Given the description of an element on the screen output the (x, y) to click on. 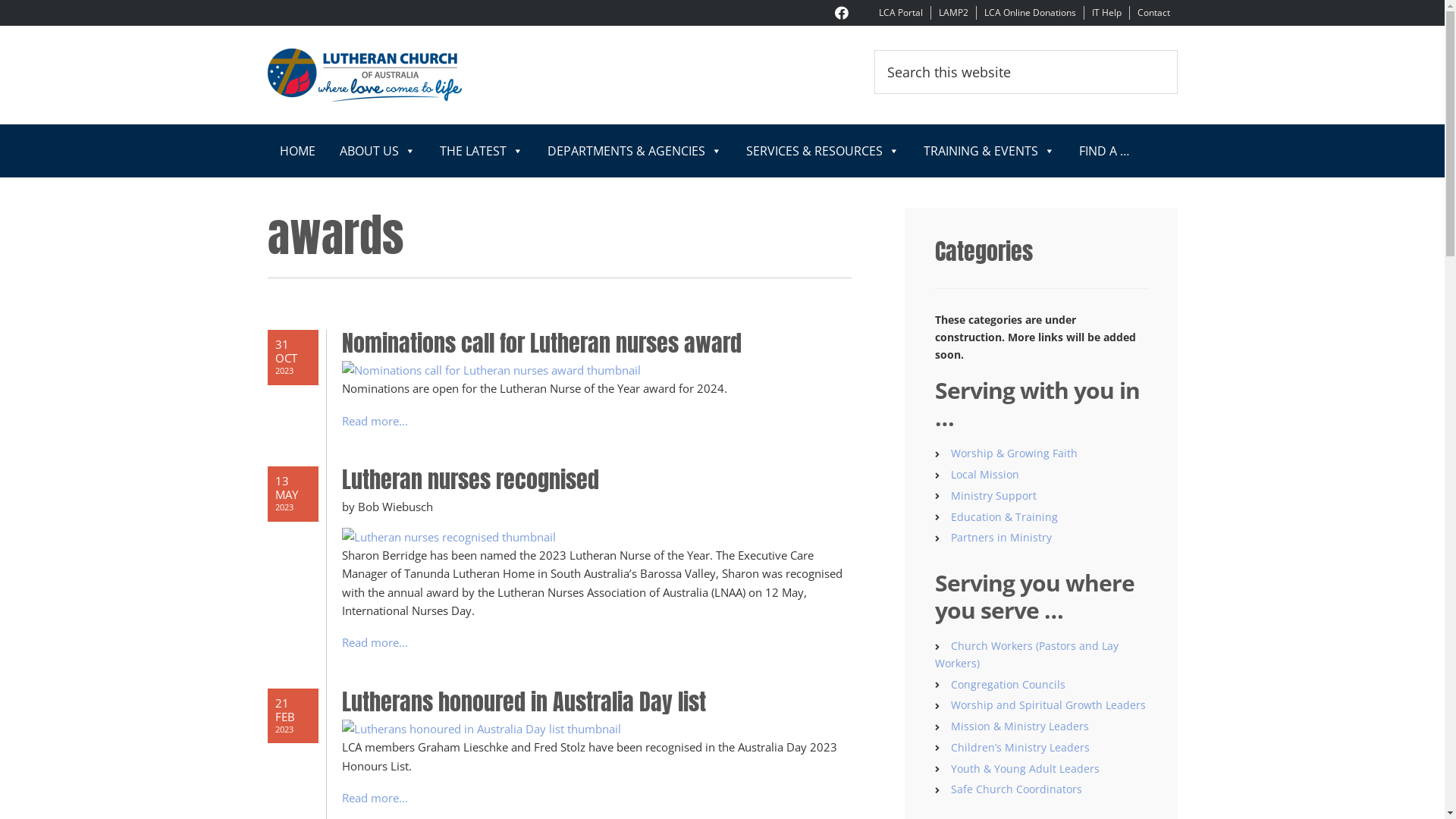
TRAINING & EVENTS Element type: text (988, 150)
Ministry Support Element type: text (993, 495)
IT Help Element type: text (1106, 12)
Safe Church Coordinators Element type: text (1016, 788)
Lutheran nurses recognised Element type: text (595, 479)
Search Element type: text (1176, 49)
THE LATEST Element type: text (481, 150)
Partners in Ministry Element type: text (1000, 537)
Read more... Element type: text (374, 797)
HOME Element type: text (296, 150)
Skip to primary navigation Element type: text (0, 0)
Mission & Ministry Leaders Element type: text (1019, 725)
Lutheran Church of Australia Element type: text (402, 74)
Church Workers (Pastors and Lay Workers) Element type: text (1025, 654)
Youth & Young Adult Leaders Element type: text (1024, 768)
Lutherans honoured in Australia Day list Element type: text (595, 701)
DEPARTMENTS & AGENCIES Element type: text (634, 150)
LCA Online Donations Element type: text (1030, 12)
Congregation Councils Element type: text (1007, 683)
Nominations call for Lutheran nurses award Element type: text (595, 343)
Read more... Element type: text (374, 641)
LCA Portal Element type: text (900, 12)
Read more... Element type: text (374, 420)
Local Mission Element type: text (984, 474)
Contact Element type: text (1153, 12)
SERVICES & RESOURCES Element type: text (822, 150)
LAMP2 Element type: text (953, 12)
Education & Training Element type: text (1003, 516)
ABOUT US Element type: text (377, 150)
Worship & Growing Faith Element type: text (1013, 452)
Worship and Spiritual Growth Leaders Element type: text (1047, 704)
